Given the description of an element on the screen output the (x, y) to click on. 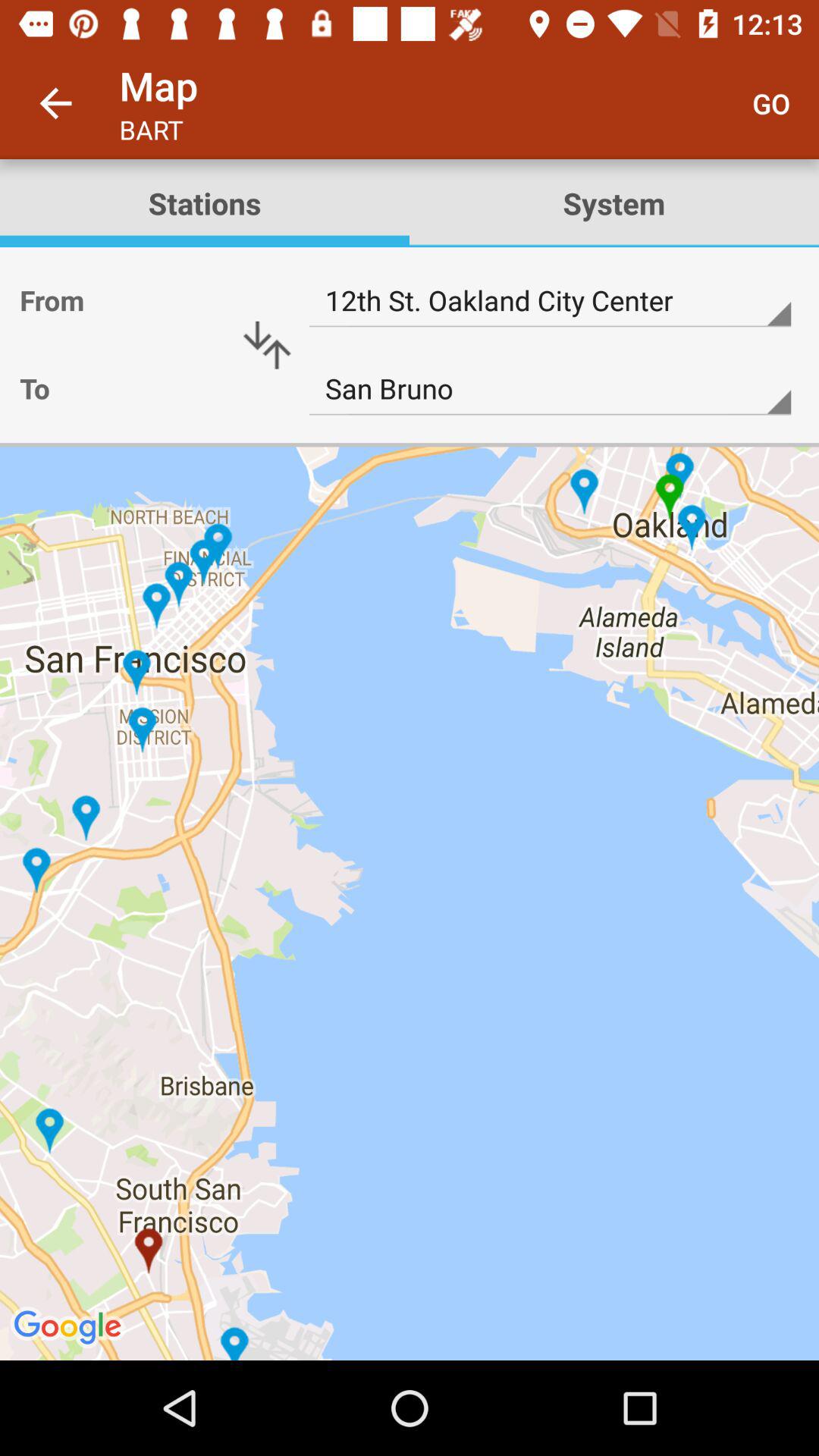
open the item above stations (55, 103)
